Given the description of an element on the screen output the (x, y) to click on. 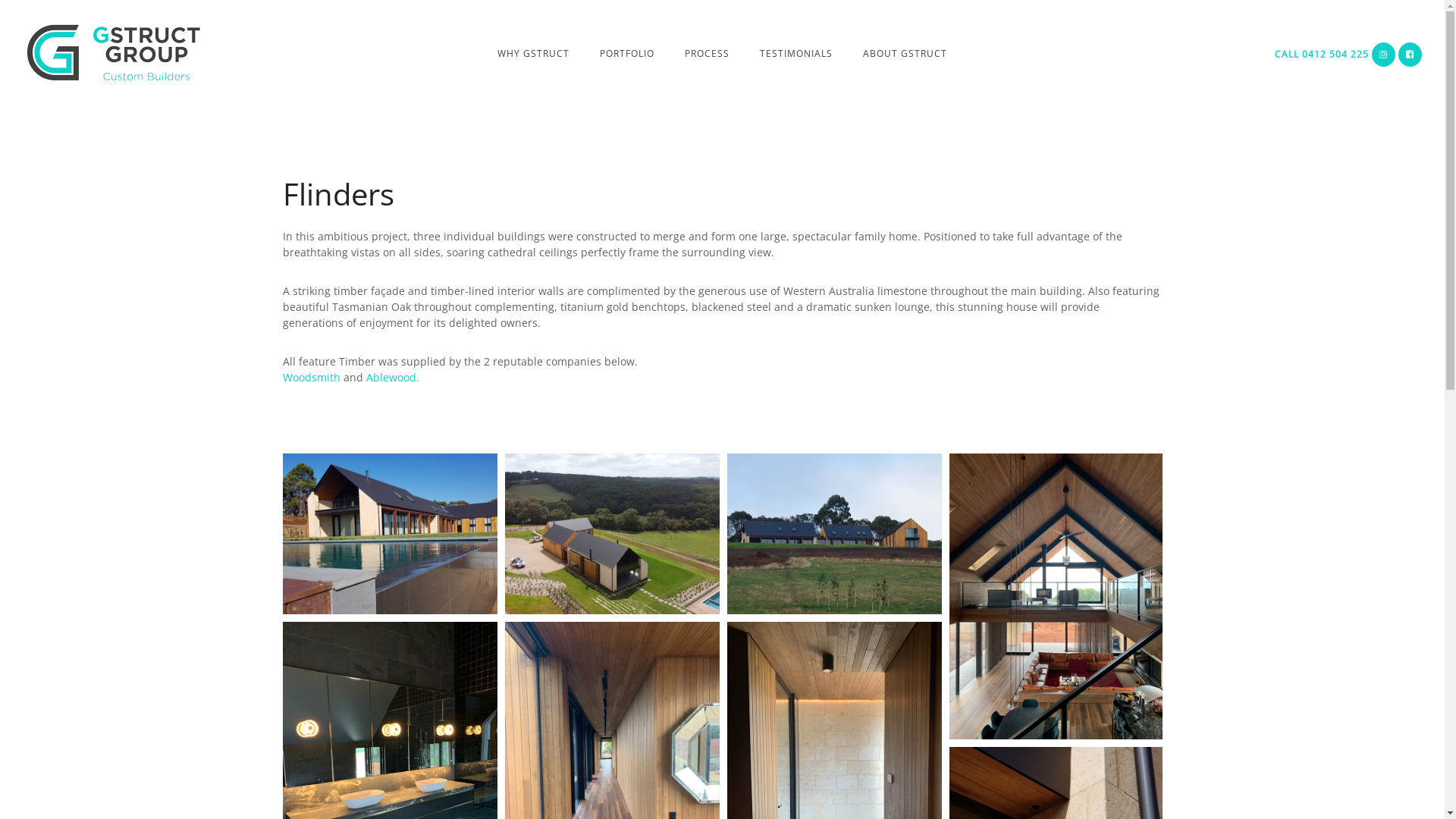
TESTIMONIALS Element type: text (795, 53)
CALL 0412 504 225 Element type: text (1321, 53)
Ablewood. Element type: text (391, 377)
PORTFOLIO Element type: text (626, 53)
PROCESS Element type: text (706, 53)
WHY GSTRUCT Element type: text (533, 53)
ABOUT GSTRUCT Element type: text (904, 53)
Woodsmith Element type: text (312, 377)
